Given the description of an element on the screen output the (x, y) to click on. 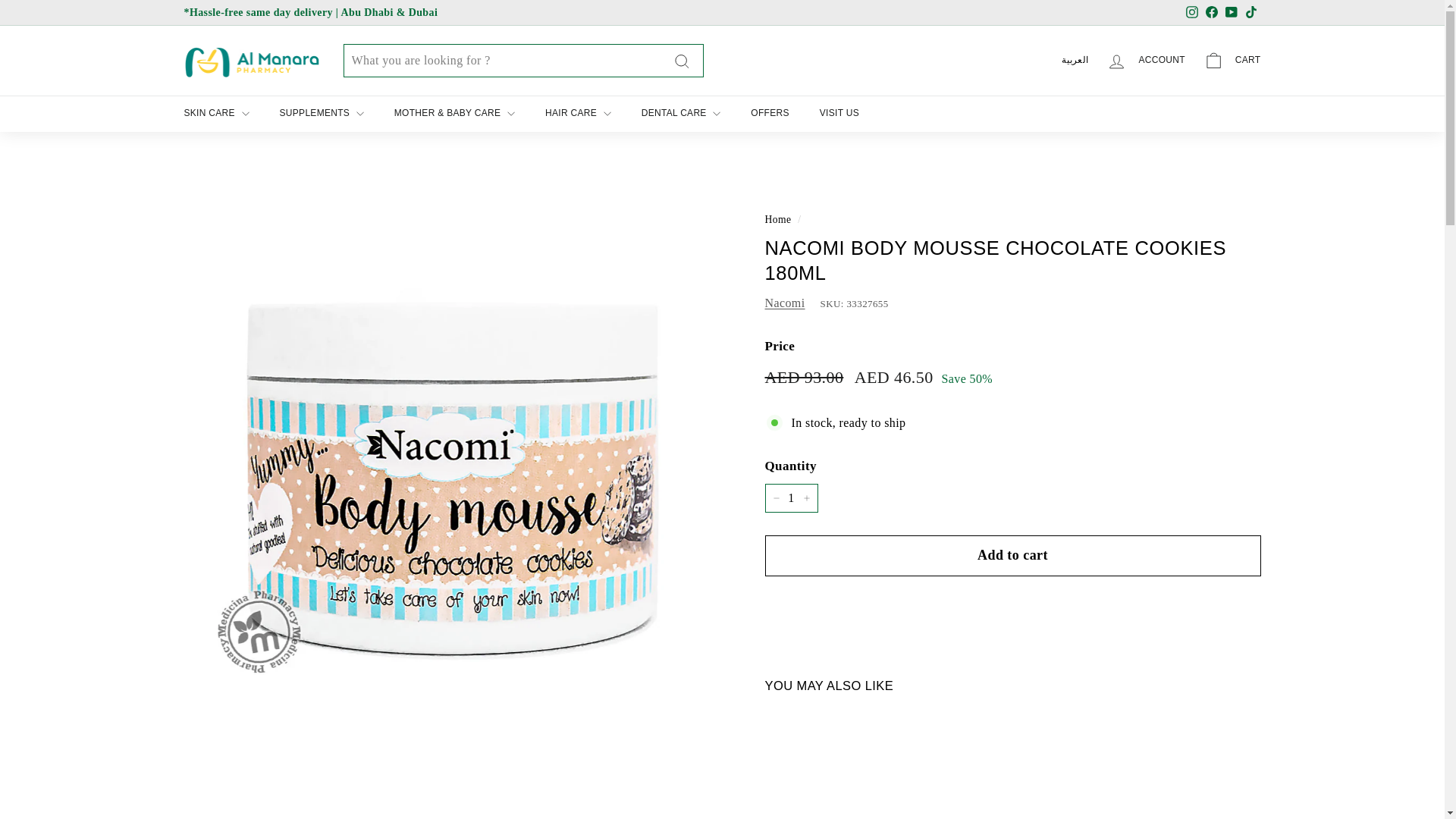
Back to the frontpage (777, 219)
ACCOUNT (1145, 60)
1 (790, 498)
instagram (1192, 11)
